Given the description of an element on the screen output the (x, y) to click on. 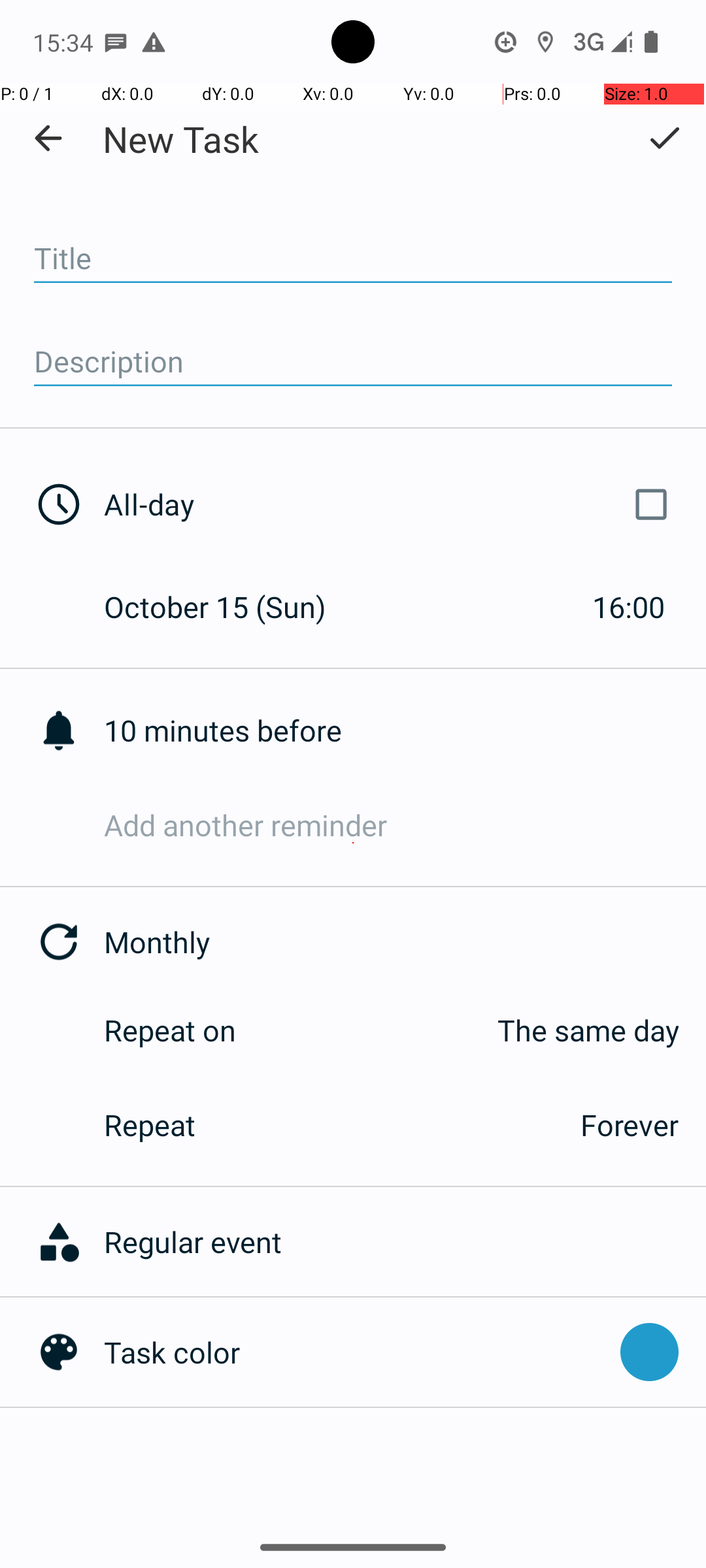
New Task Element type: android.widget.TextView (180, 138)
10 minutes before Element type: android.widget.TextView (404, 729)
Add another reminder Element type: android.widget.TextView (404, 824)
Monthly Element type: android.widget.TextView (404, 941)
Repeat on Element type: android.widget.TextView (169, 1029)
The same day Element type: android.widget.TextView (470, 1029)
Repeat Element type: android.widget.TextView (328, 1124)
Forever Element type: android.widget.TextView (629, 1124)
Task color Element type: android.widget.TextView (354, 1351)
